Given the description of an element on the screen output the (x, y) to click on. 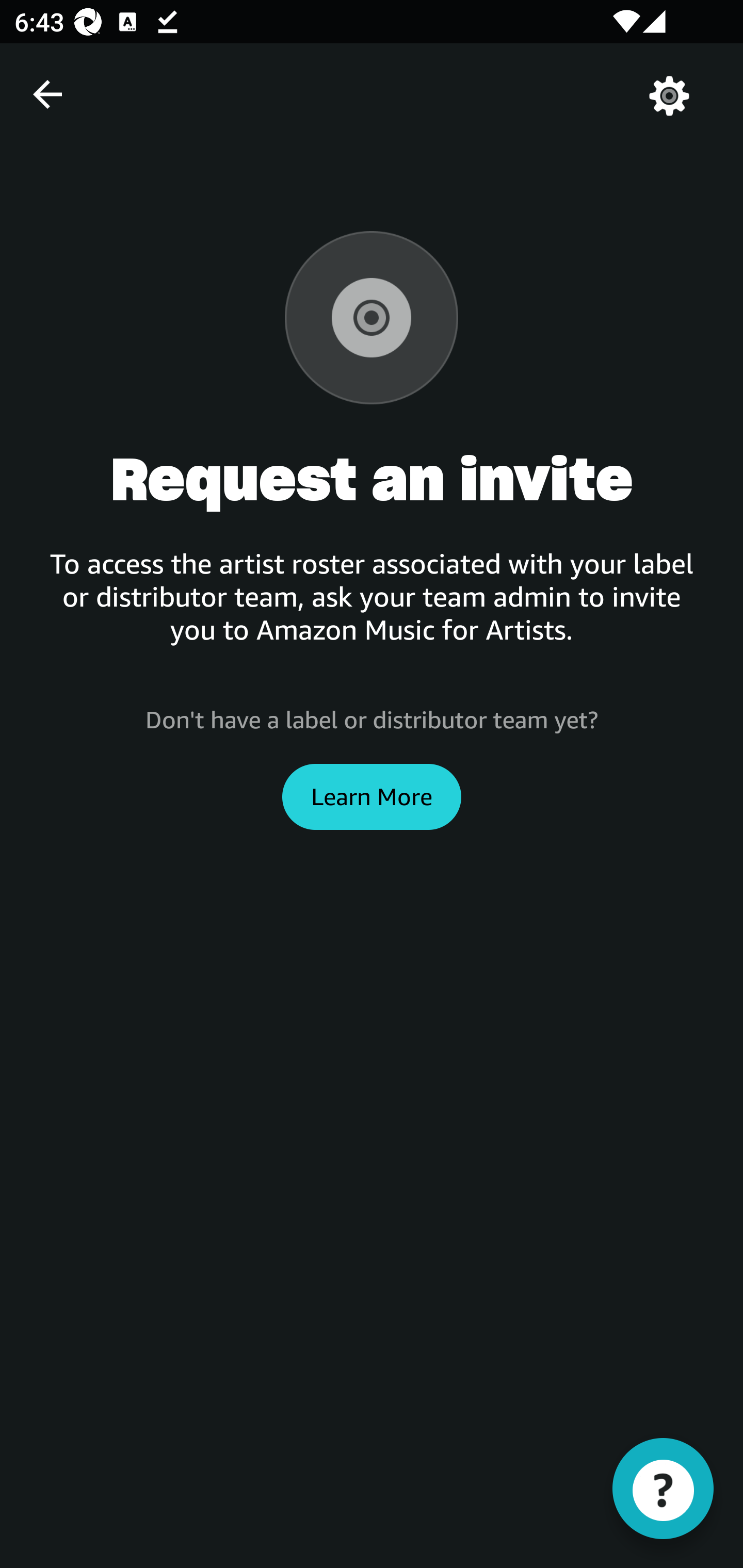
Learn more button Learn More (371, 796)
